Given the description of an element on the screen output the (x, y) to click on. 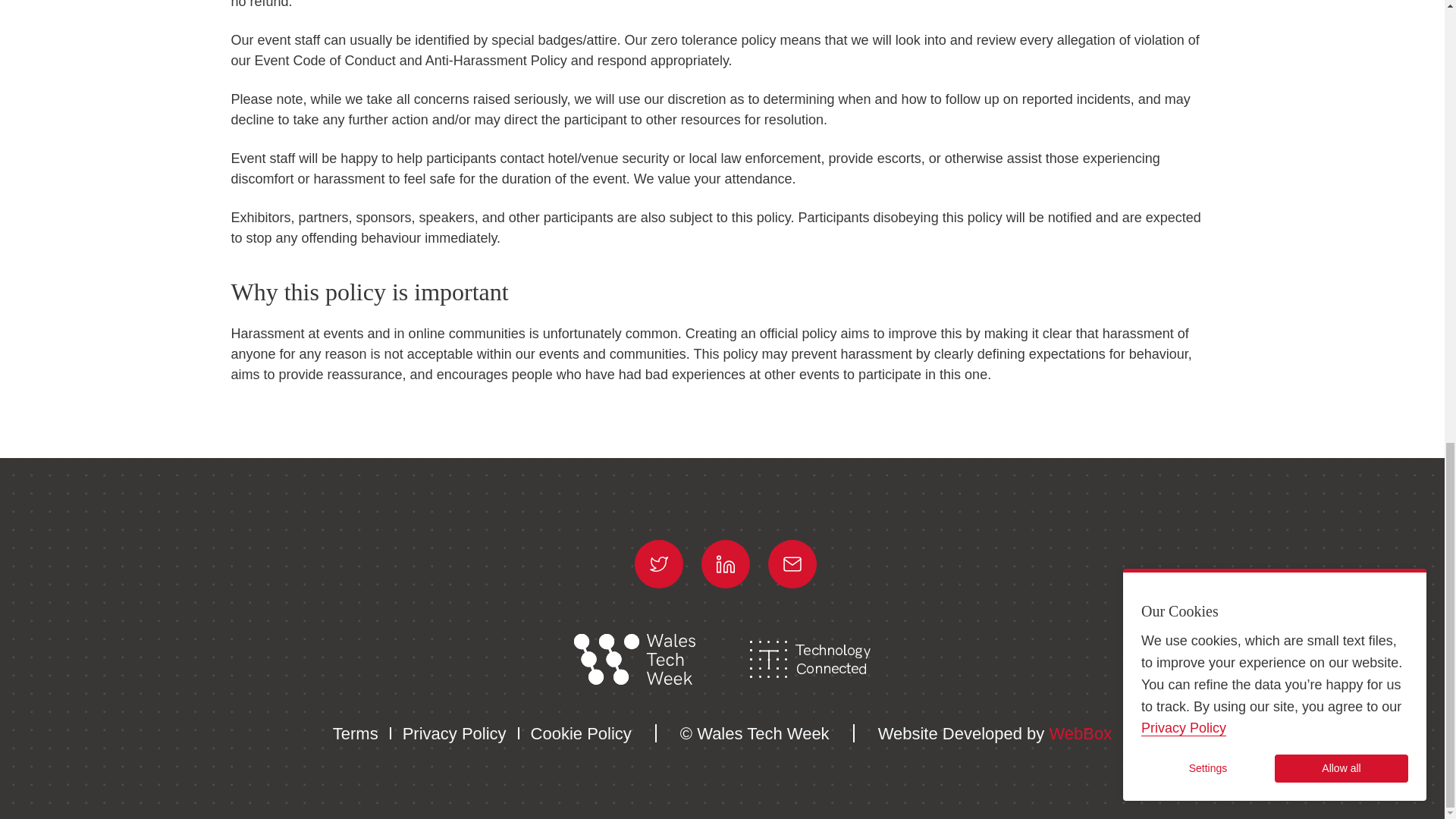
Terms (355, 733)
WebBox (1080, 732)
Privacy Policy (454, 733)
Cookie Policy (581, 733)
